Given the description of an element on the screen output the (x, y) to click on. 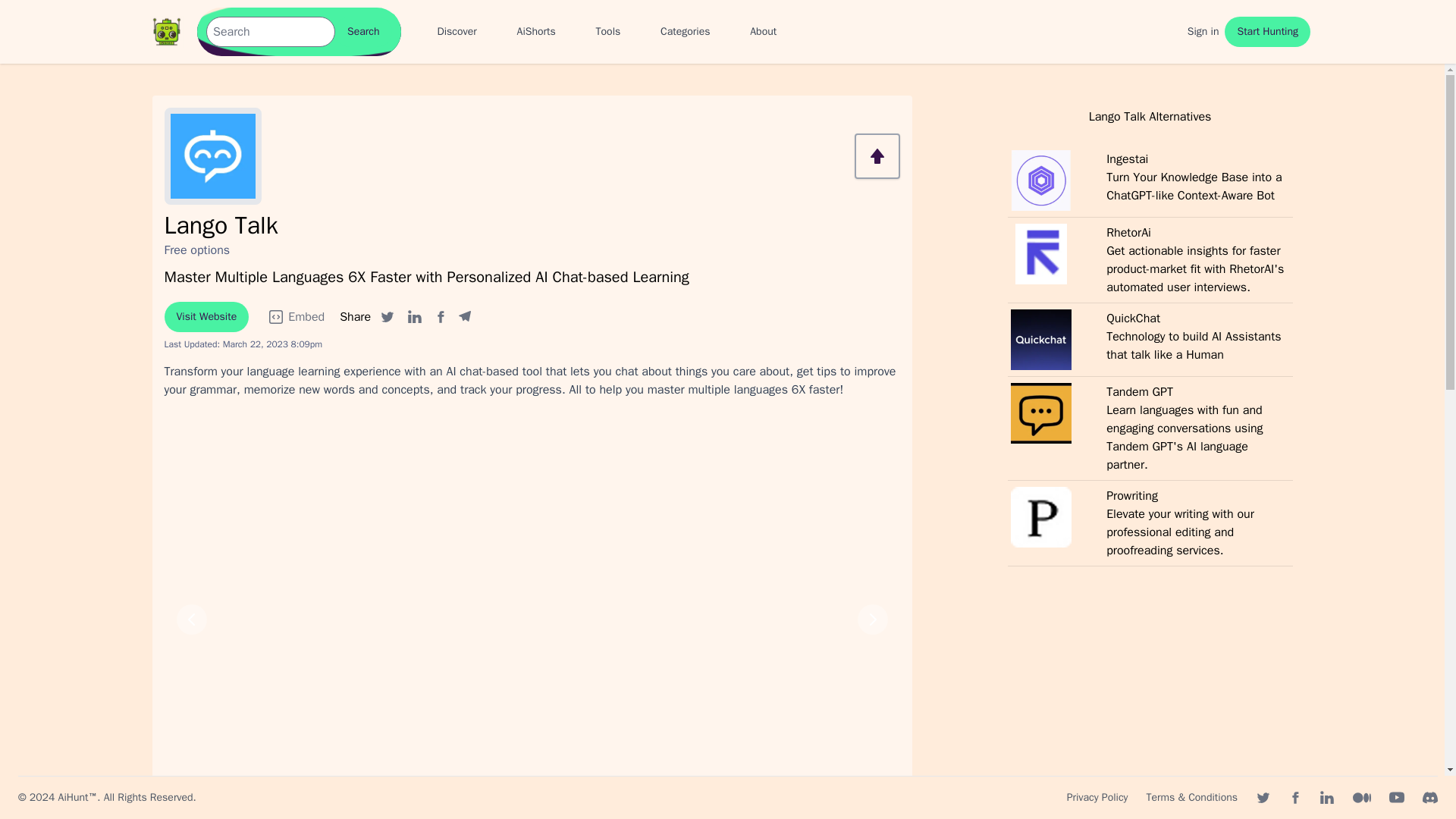
Privacy Policy (1097, 797)
Telegram share (464, 316)
Linkedin share (414, 316)
Start Hunting (1267, 31)
Facebook share (439, 316)
Search (362, 31)
Search (362, 31)
About (763, 31)
Embed (295, 316)
Sign in (1202, 31)
AiShorts (536, 31)
Discover (455, 31)
